Given the description of an element on the screen output the (x, y) to click on. 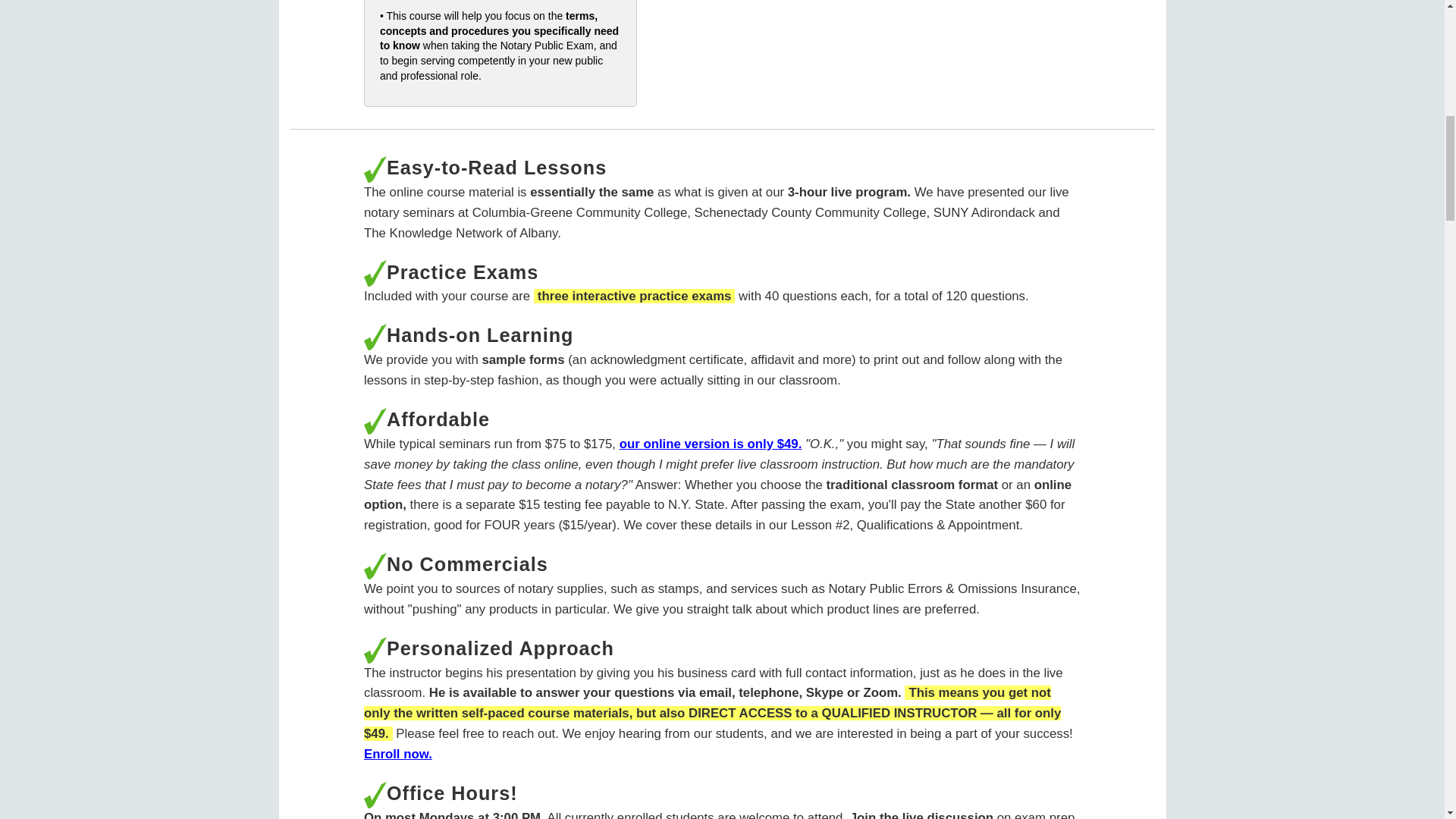
Enroll now. (398, 753)
